Given the description of an element on the screen output the (x, y) to click on. 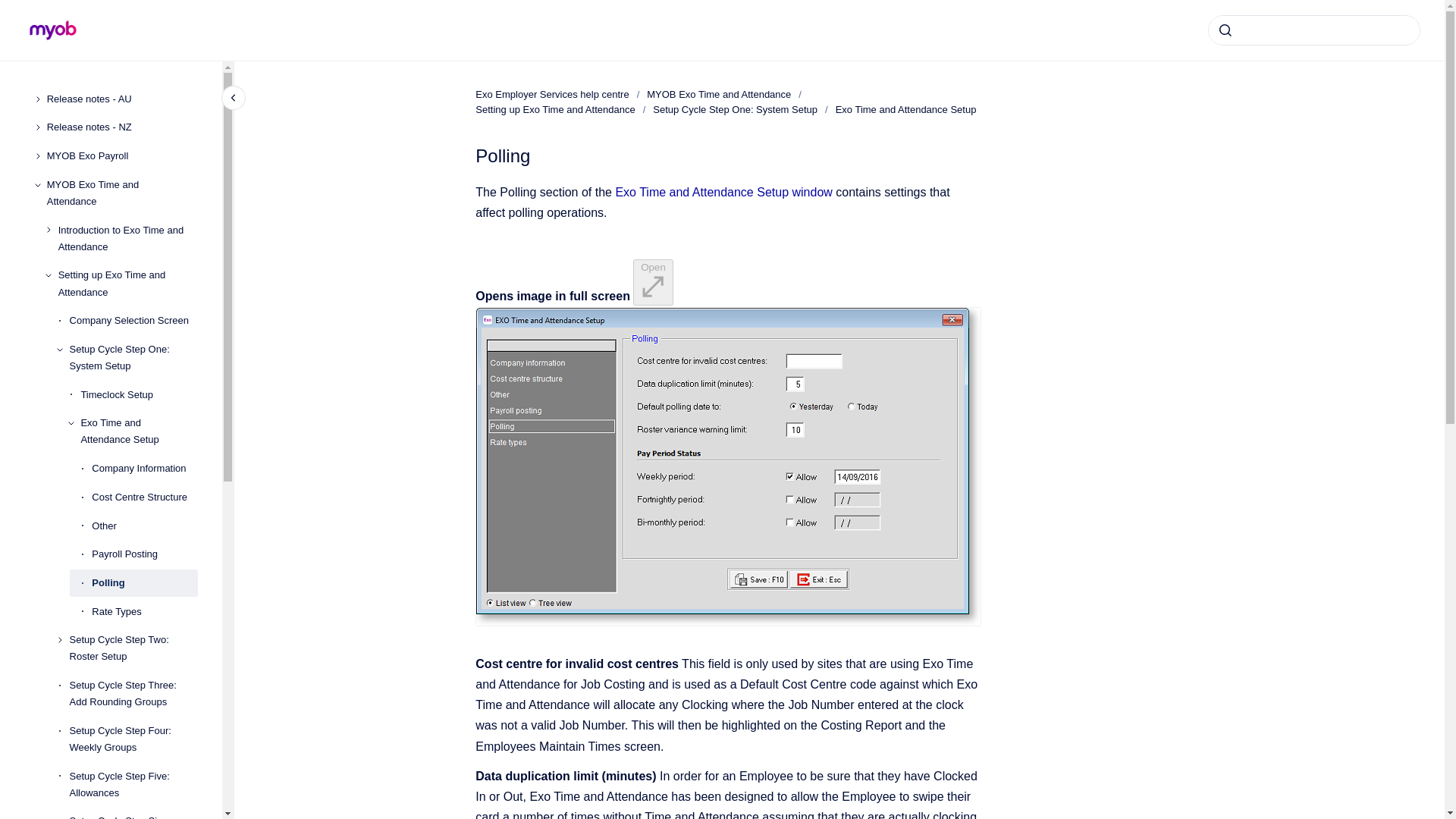
Setup Cycle Step Four: Weekly Groups (133, 739)
Setup Cycle Step One: System Setup (133, 357)
Go to homepage (52, 30)
Timeclock Setup (139, 394)
MYOB Exo Time and Attendance (122, 193)
Introduction to Exo Time and Attendance (128, 239)
Setup Cycle Step Five: Allowances (133, 784)
Setting up Exo Time and Attendance (128, 284)
Company Selection Screen (133, 320)
Setup Cycle Step Three: Add Rounding Groups (133, 693)
